Given the description of an element on the screen output the (x, y) to click on. 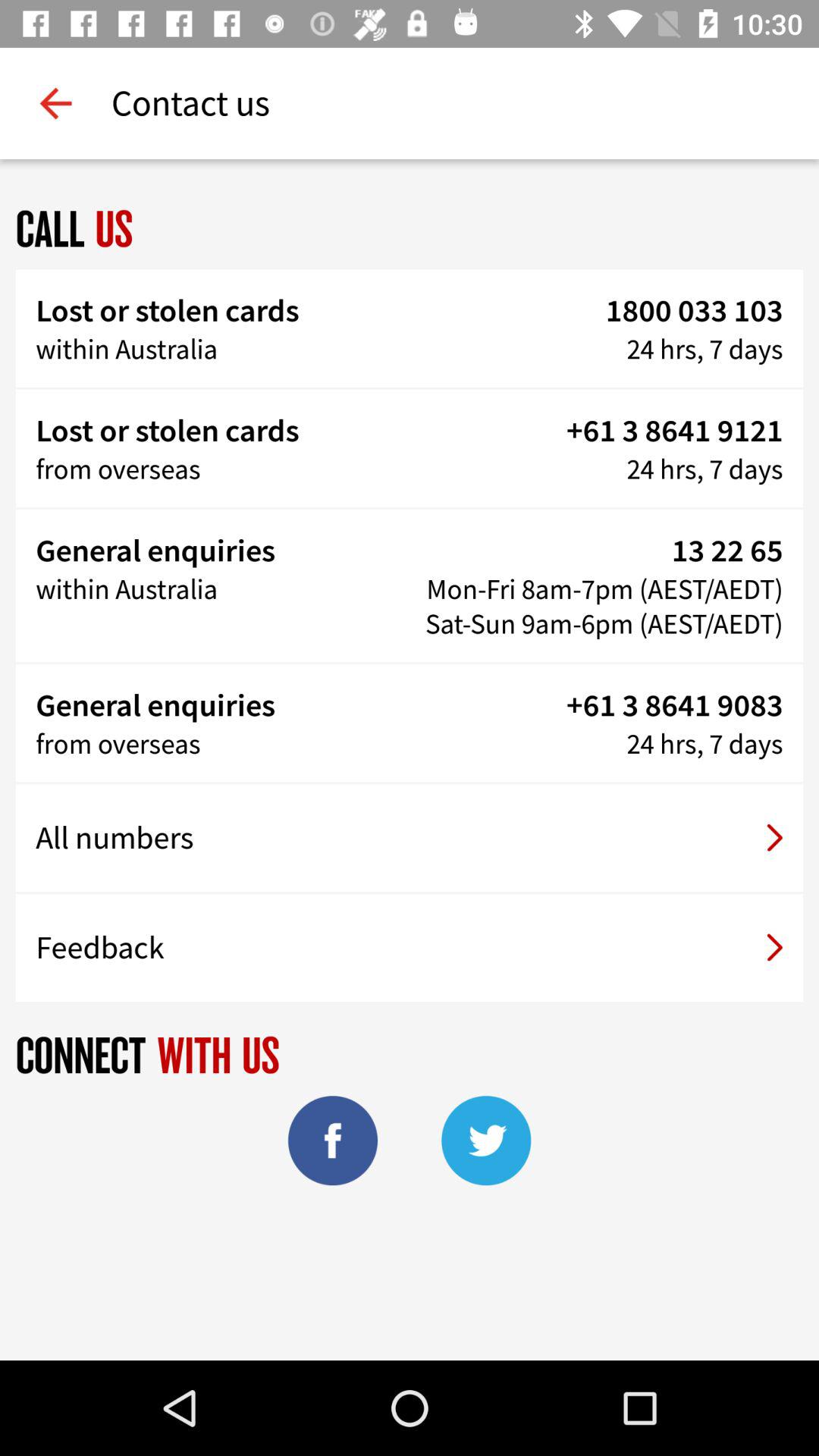
jump to all numbers icon (409, 837)
